Given the description of an element on the screen output the (x, y) to click on. 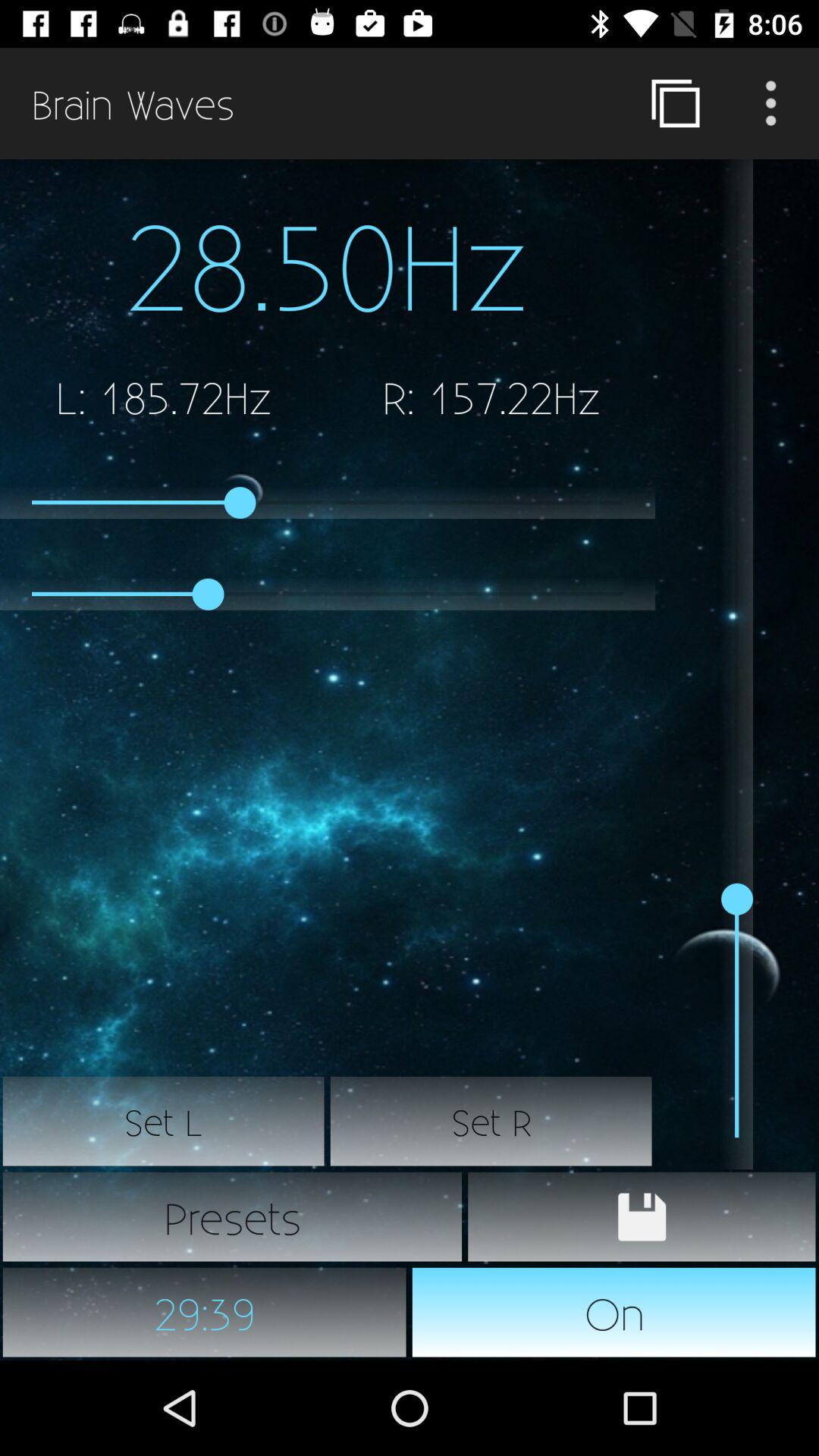
select the item above 29:39 icon (232, 1216)
